Given the description of an element on the screen output the (x, y) to click on. 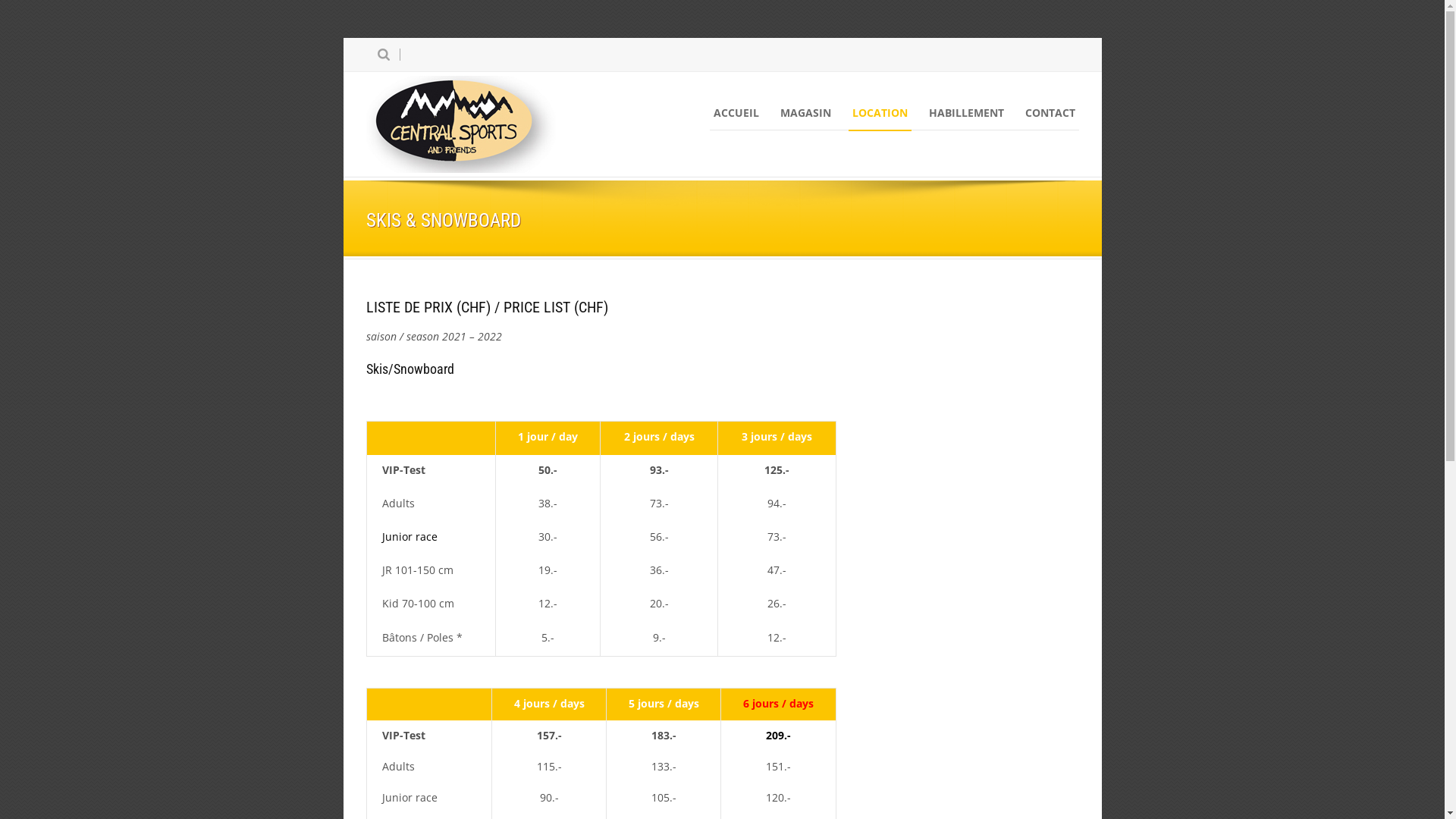
MAGASIN Element type: text (805, 112)
CONTACT Element type: text (1049, 112)
LOCATION Element type: text (878, 112)
ACCUEIL Element type: text (735, 112)
HABILLEMENT Element type: text (966, 112)
